Given the description of an element on the screen output the (x, y) to click on. 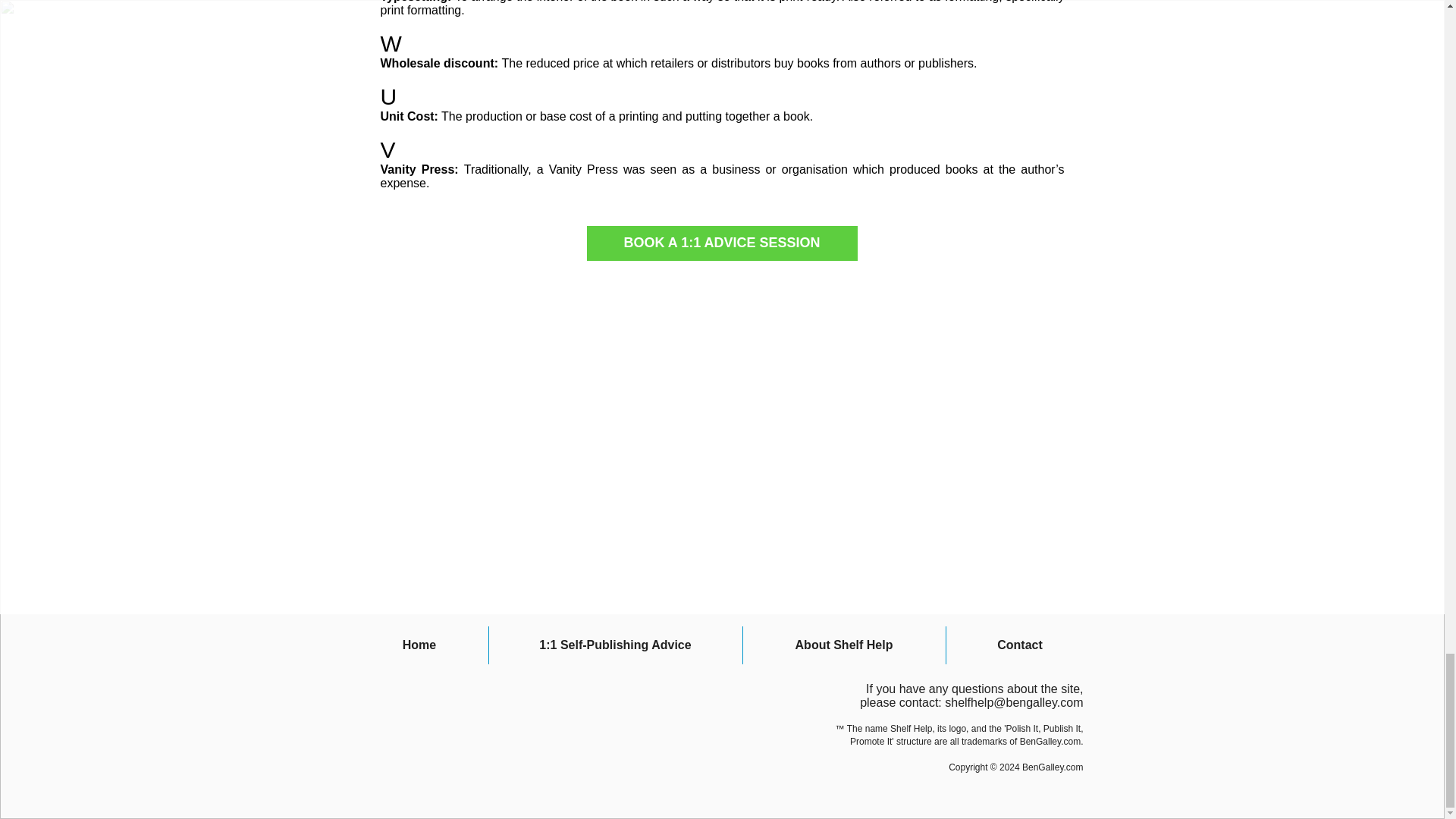
1:1 Self-Publishing Advice (614, 645)
Contact (1020, 645)
About Shelf Help (843, 645)
Home (418, 645)
BOOK A 1:1 ADVICE SESSION (721, 243)
